Given the description of an element on the screen output the (x, y) to click on. 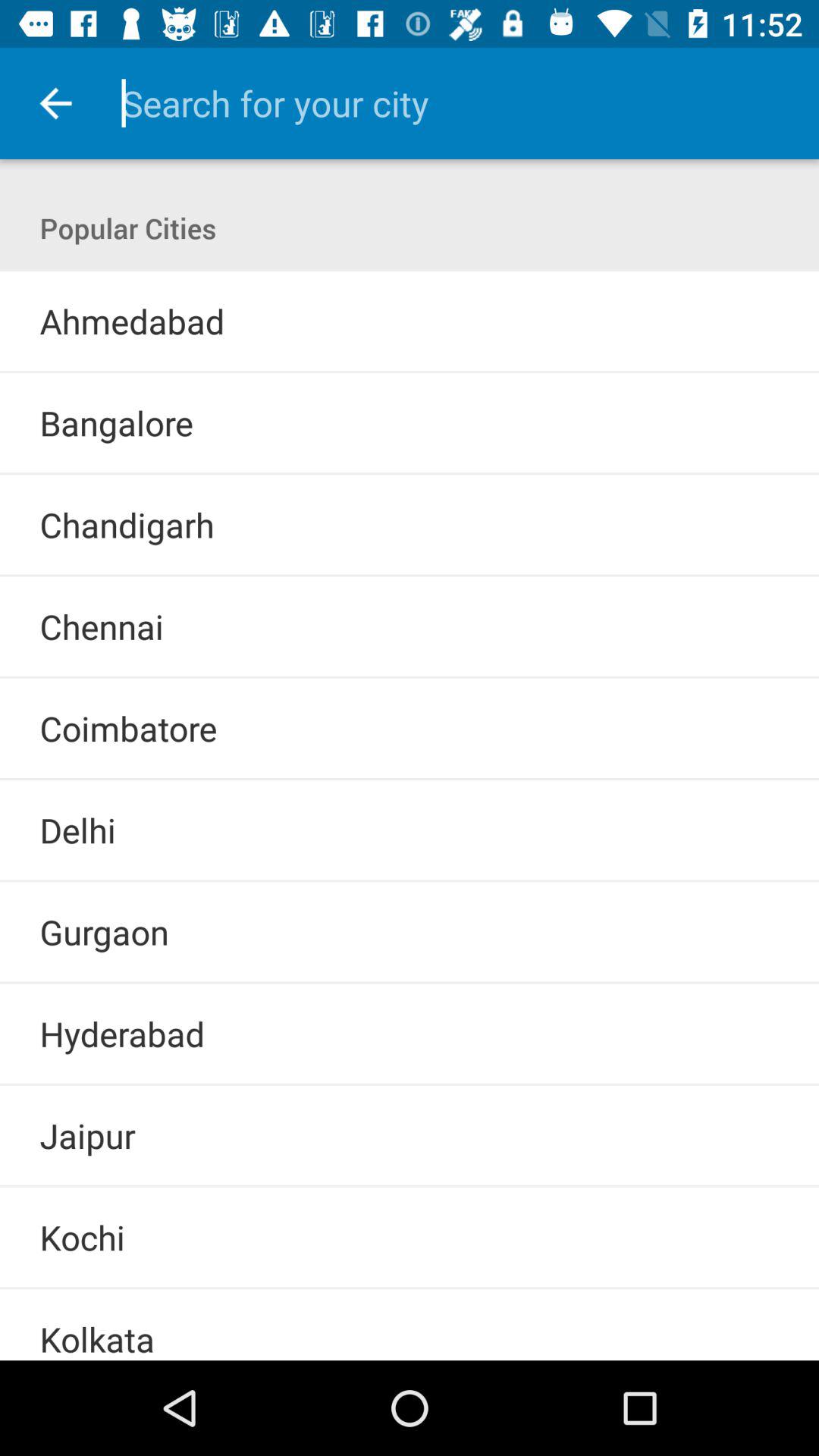
flip until the kochi item (82, 1237)
